Given the description of an element on the screen output the (x, y) to click on. 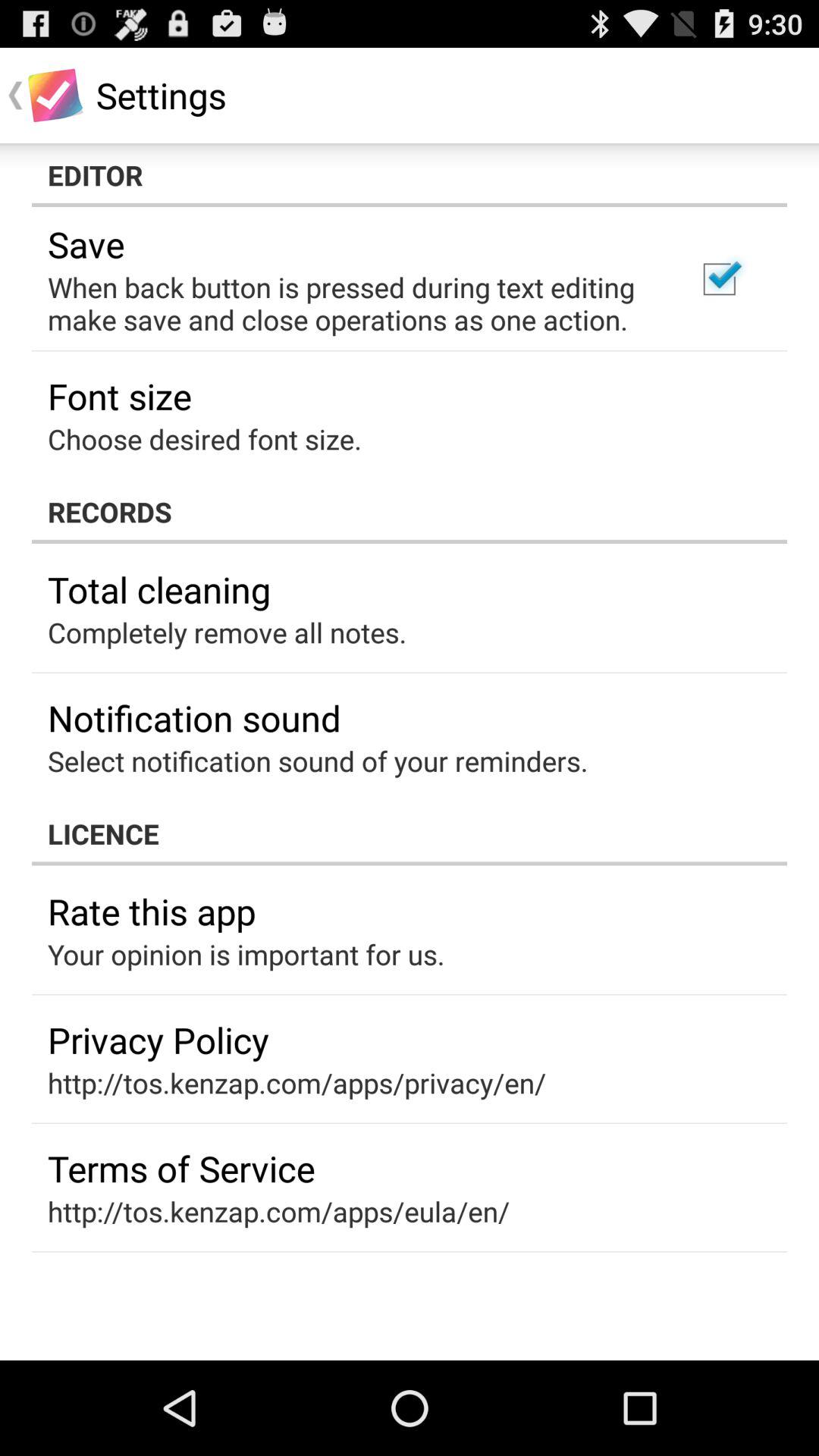
select the item at the top right corner (719, 279)
